Given the description of an element on the screen output the (x, y) to click on. 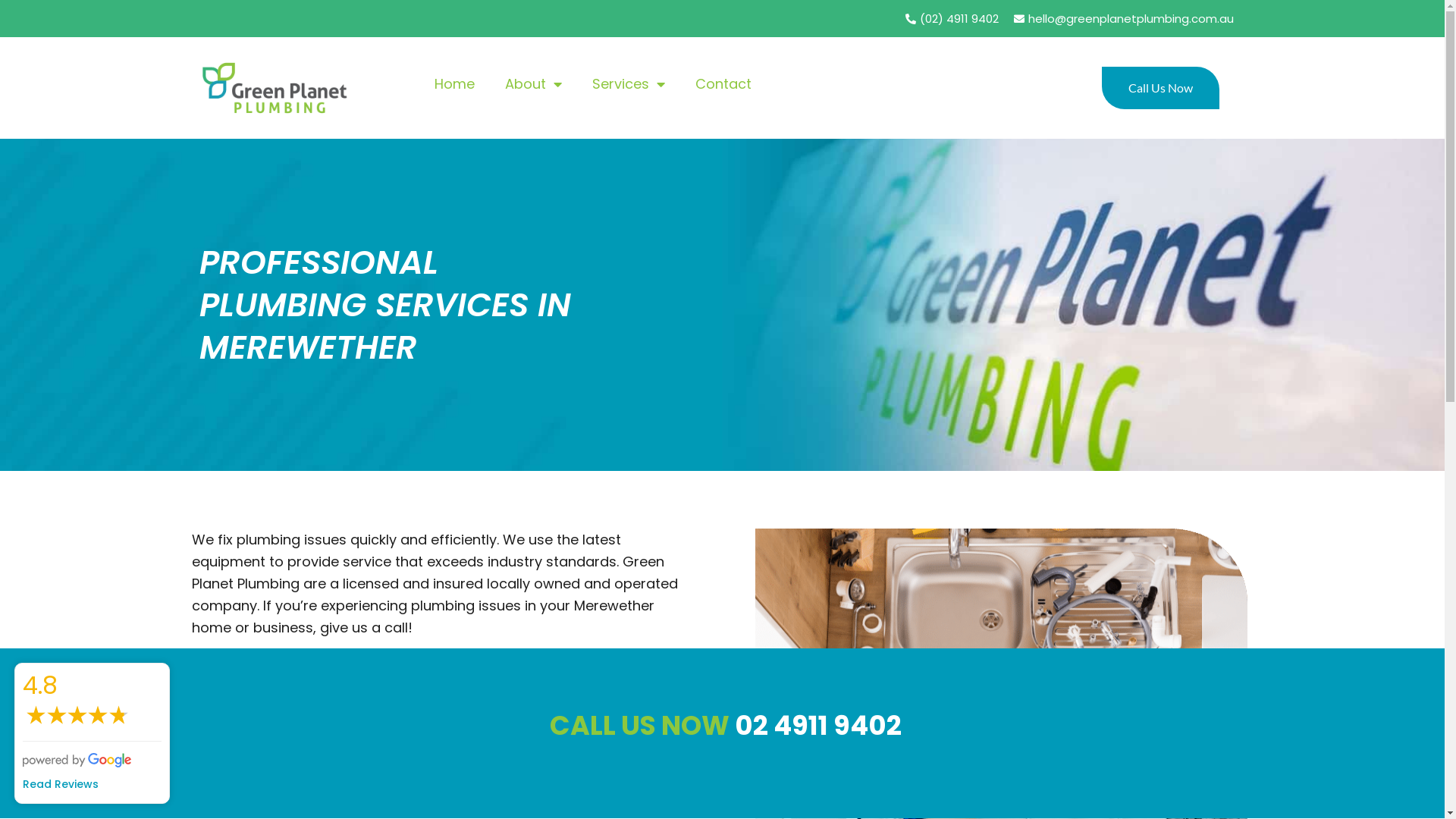
Roofing Element type: text (576, 797)
24/7 Emergency Service Plumbing Element type: text (317, 709)
Read Reviews Element type: text (91, 784)
Services Element type: text (627, 83)
Contact Element type: text (722, 83)
Emergency Plumbing Element type: text (317, 753)
Commercial Plumbing Element type: text (317, 731)
Call Us Now Element type: text (1160, 87)
02 4911 9402 Element type: text (817, 724)
(02) 4911 9402 Element type: text (950, 18)
Toilet Repair Element type: text (317, 797)
hello@greenplanetplumbing.com.au Element type: text (1121, 18)
Home Element type: text (453, 83)
Gas Plumbing Element type: text (317, 775)
About Element type: text (533, 83)
Bathroom Renovations Element type: text (576, 731)
Hot Water System Element type: text (576, 709)
Backflow Prevention Element type: text (576, 775)
Powered by Google Element type: hover (76, 760)
Sewer Jetting Element type: text (576, 753)
